Given the description of an element on the screen output the (x, y) to click on. 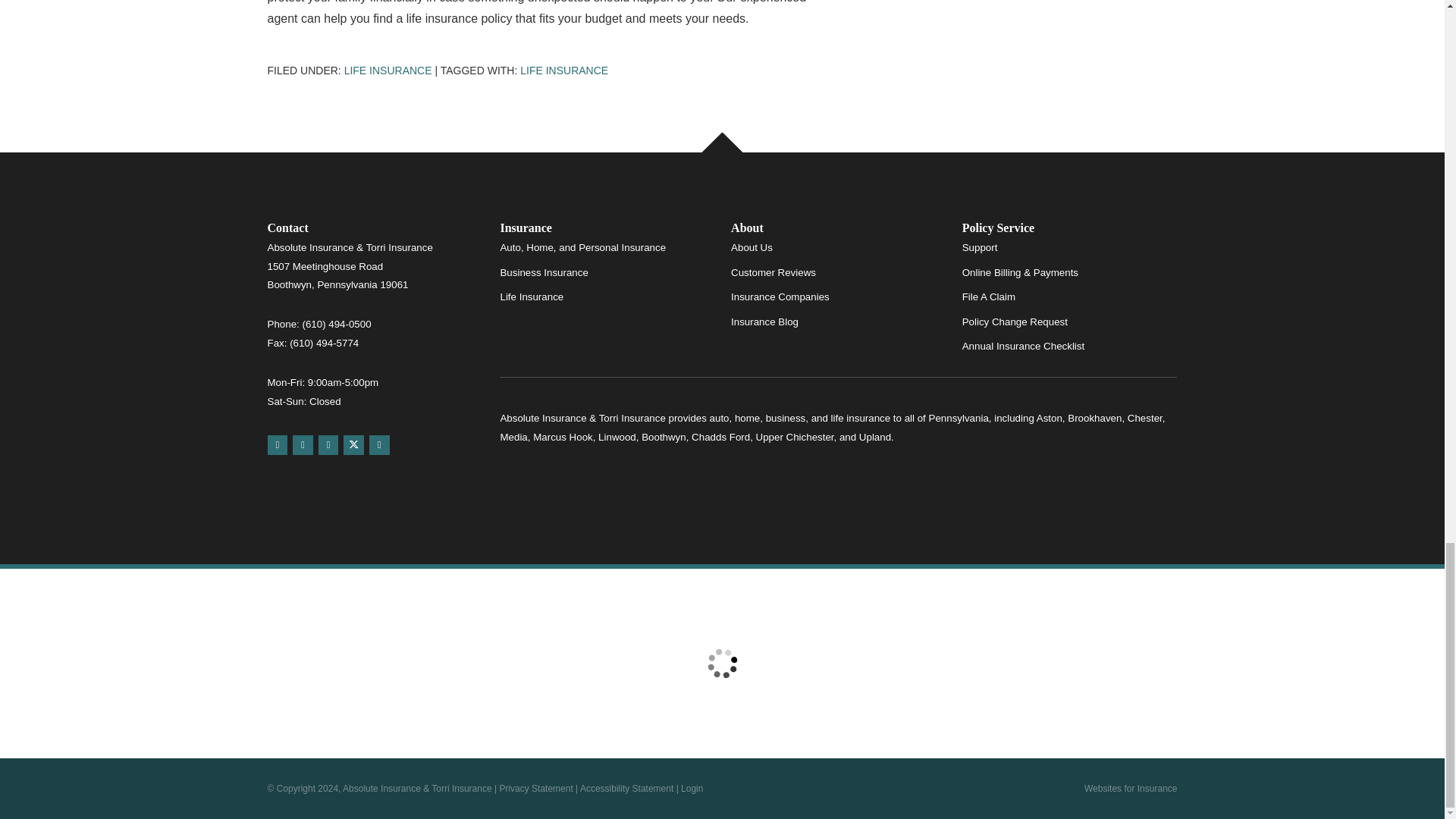
Life Insurance (563, 70)
X (353, 444)
Yelp (302, 444)
LinkedIn (379, 444)
Google Maps (276, 444)
Life Insurance (387, 70)
Facebook (328, 444)
